Given the description of an element on the screen output the (x, y) to click on. 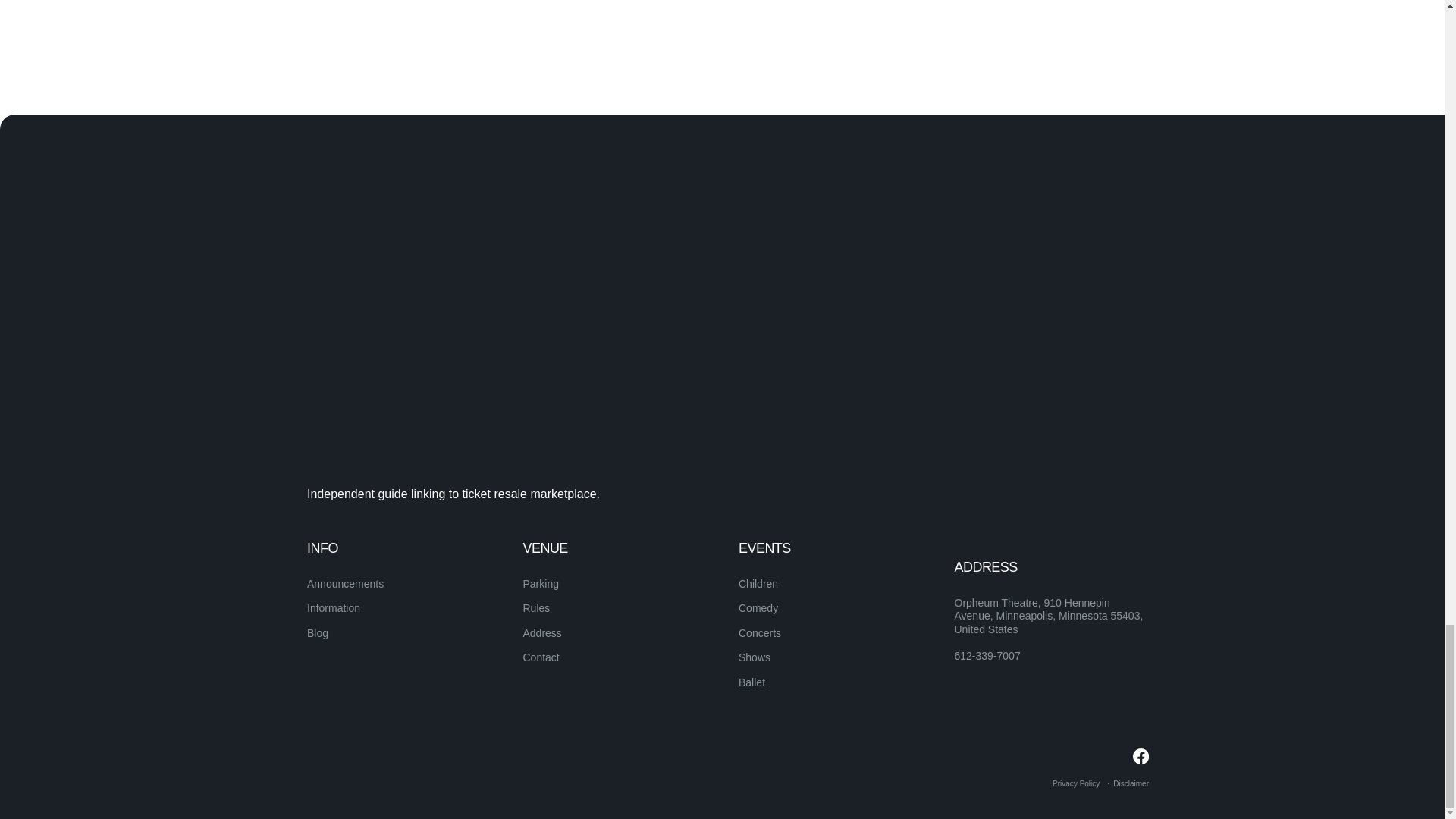
Concerts (759, 633)
Contact (540, 657)
Parking (540, 583)
Privacy Policy (1075, 783)
SUBSCRIBE (1095, 576)
Blog (318, 633)
Announcements (345, 583)
Ballet (751, 682)
Shows (754, 657)
612-339-7007 (986, 656)
Children (757, 583)
Comedy (757, 607)
Disclaimer (1130, 783)
Address (542, 633)
Information (333, 607)
